Given the description of an element on the screen output the (x, y) to click on. 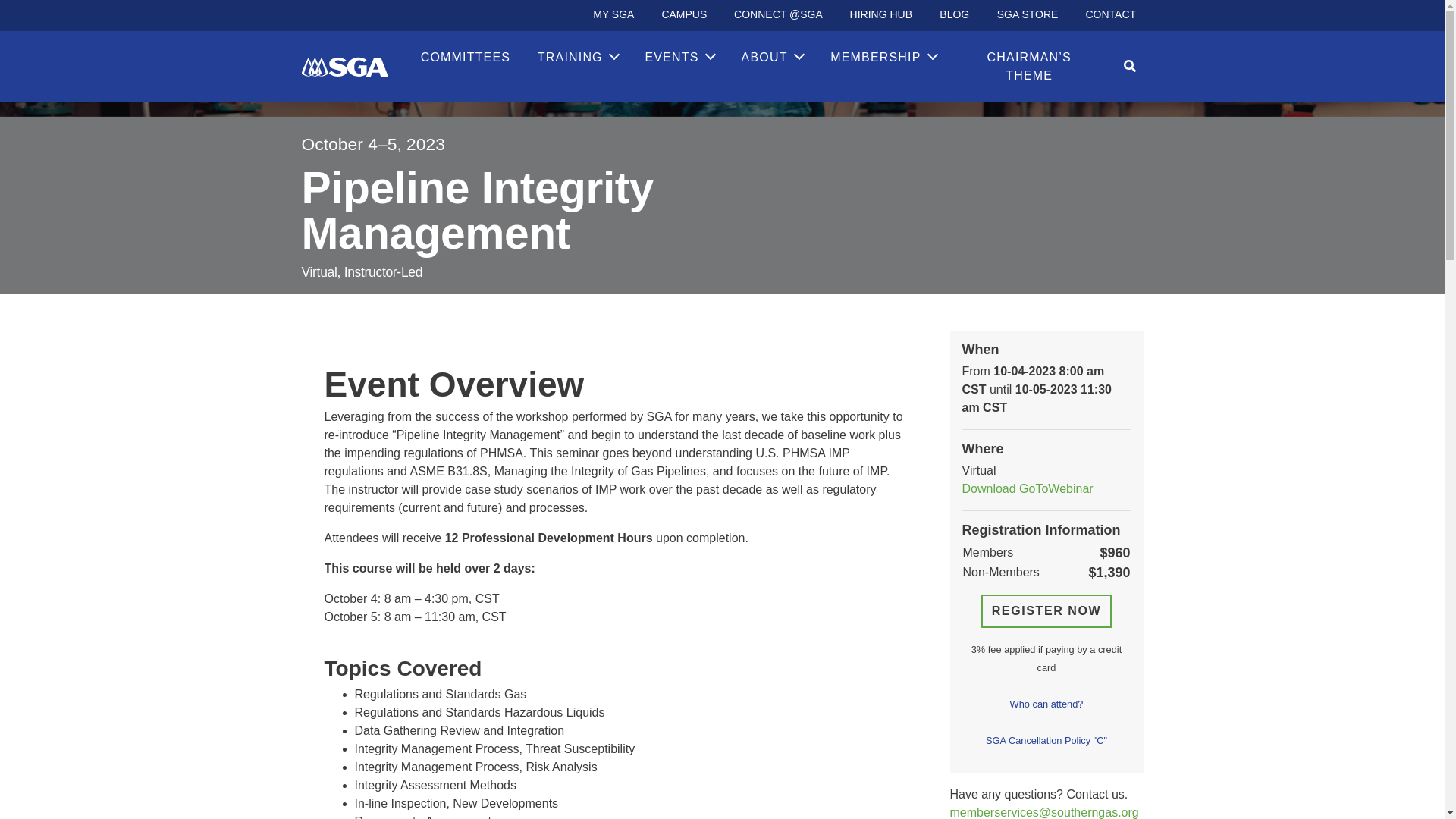
ABOUT (772, 57)
TRAINING (577, 57)
MY SGA (613, 14)
SGA STORE (1027, 14)
COMMITTEES (465, 57)
BLOG (954, 14)
CAMPUS (684, 14)
CONTACT (1109, 14)
EVENTS (679, 57)
MEMBERSHIP (883, 57)
